Given the description of an element on the screen output the (x, y) to click on. 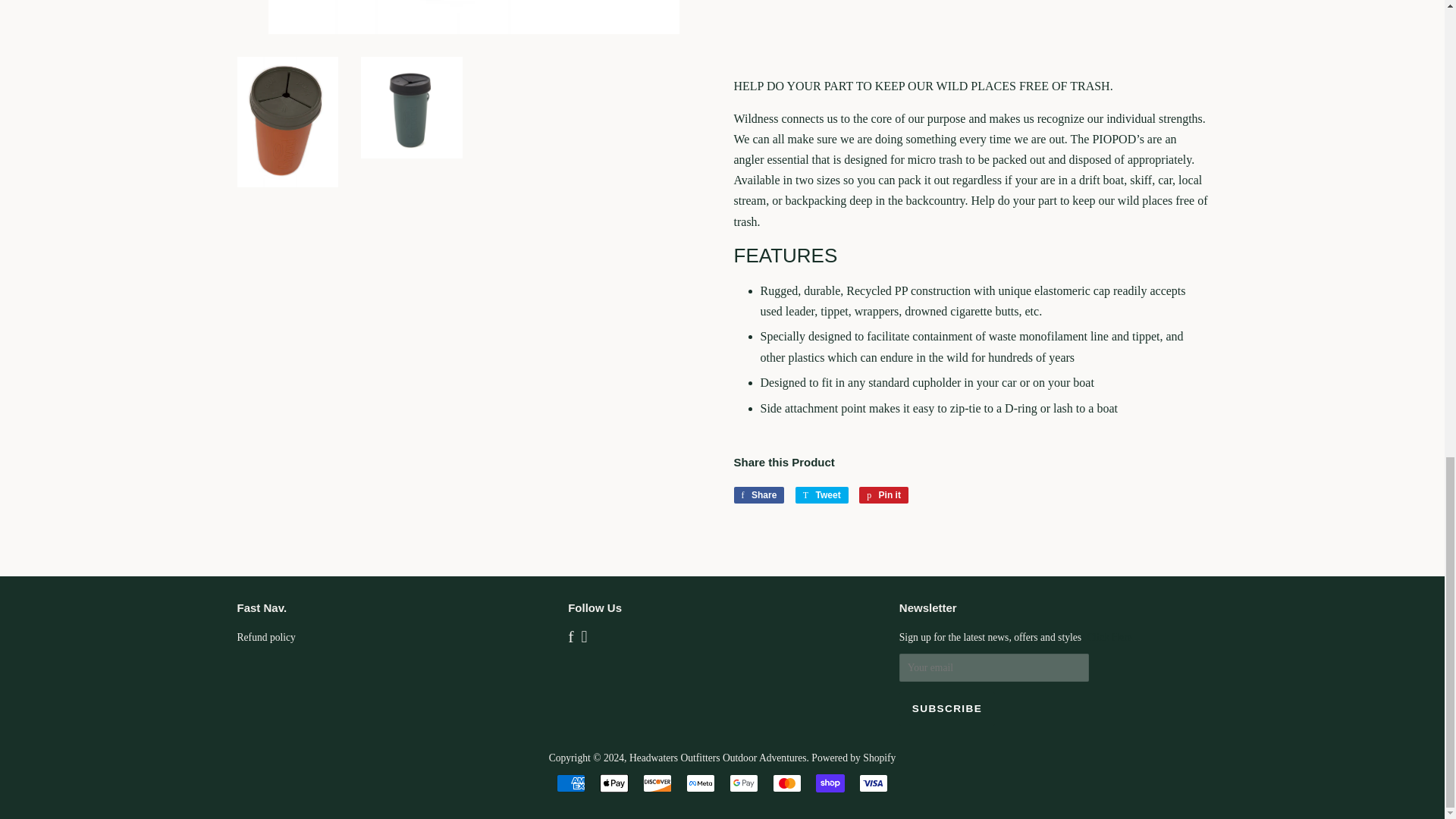
Subscribe (946, 708)
Visa (873, 782)
Apple Pay (613, 782)
Mastercard (787, 782)
Discover (657, 782)
Meta Pay (699, 782)
Shop Pay (829, 782)
Google Pay (743, 782)
American Express (570, 782)
